Given the description of an element on the screen output the (x, y) to click on. 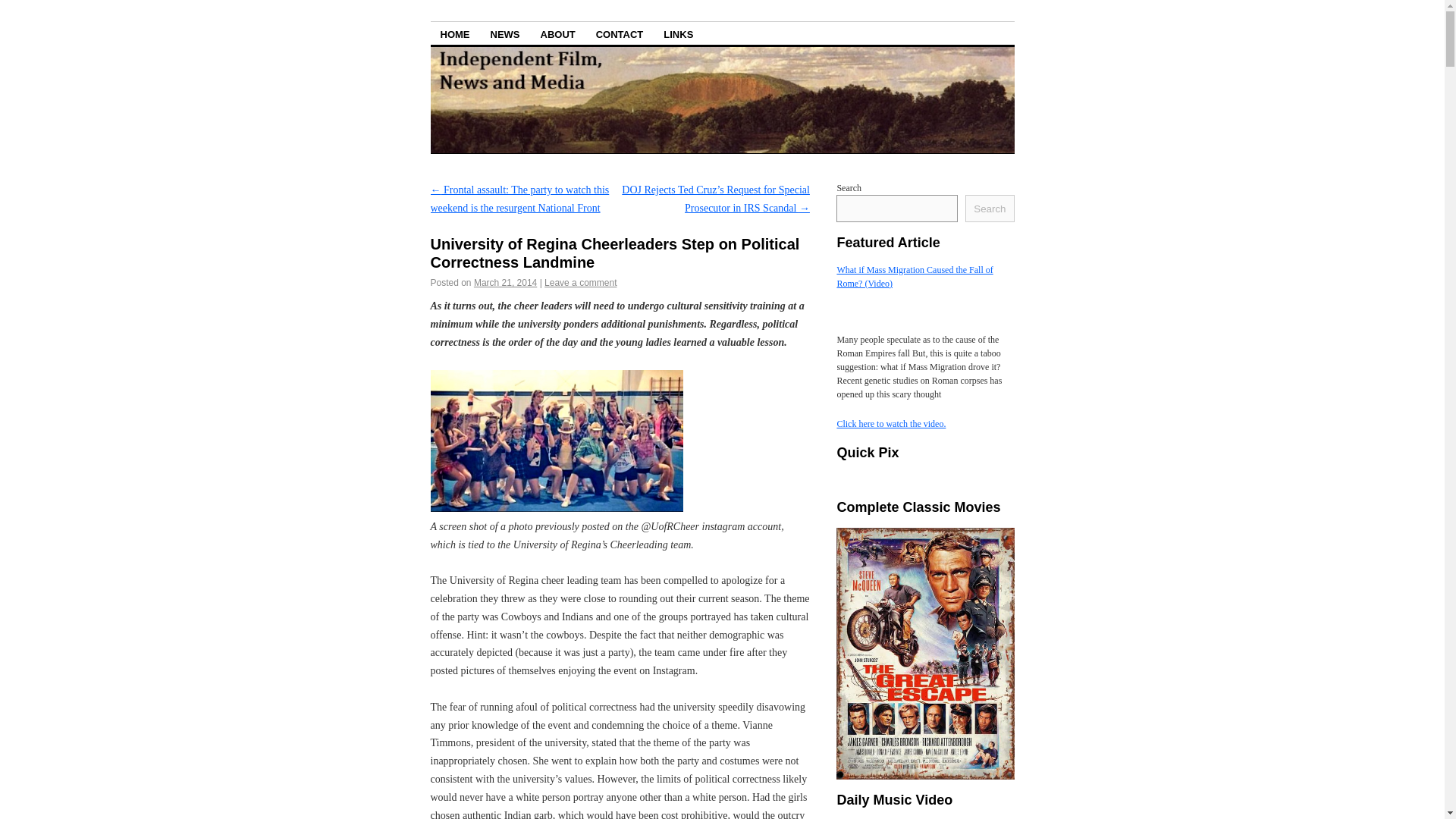
Leave a comment (579, 282)
LINKS (678, 33)
March 21, 2014 (505, 282)
Search (989, 207)
HOME (455, 33)
NEWS (504, 33)
CONTACT (619, 33)
ABOUT (558, 33)
12:30 am (505, 282)
Click here to watch the video. (889, 423)
